Given the description of an element on the screen output the (x, y) to click on. 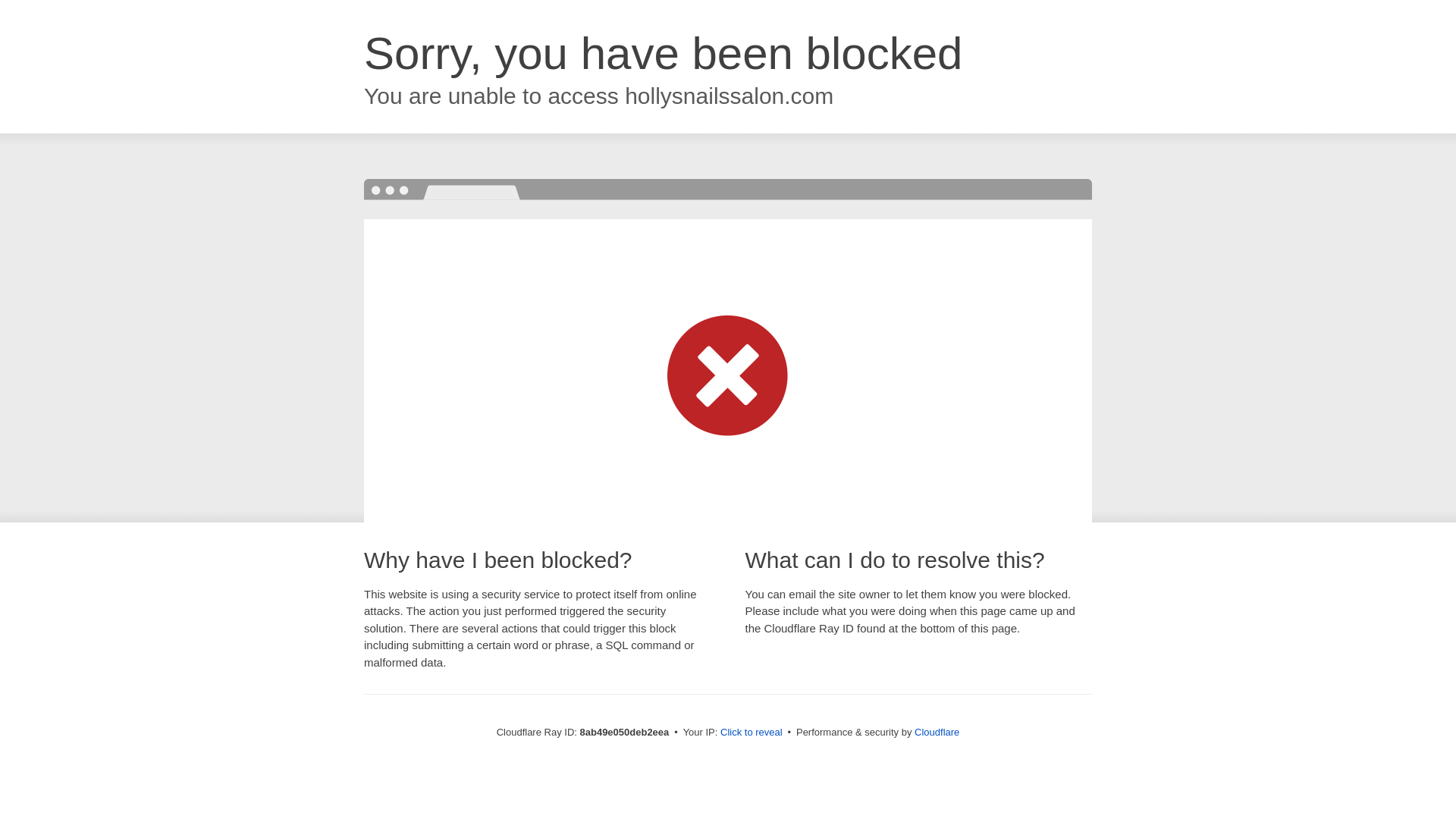
Click to reveal (751, 732)
Cloudflare (936, 731)
